Given the description of an element on the screen output the (x, y) to click on. 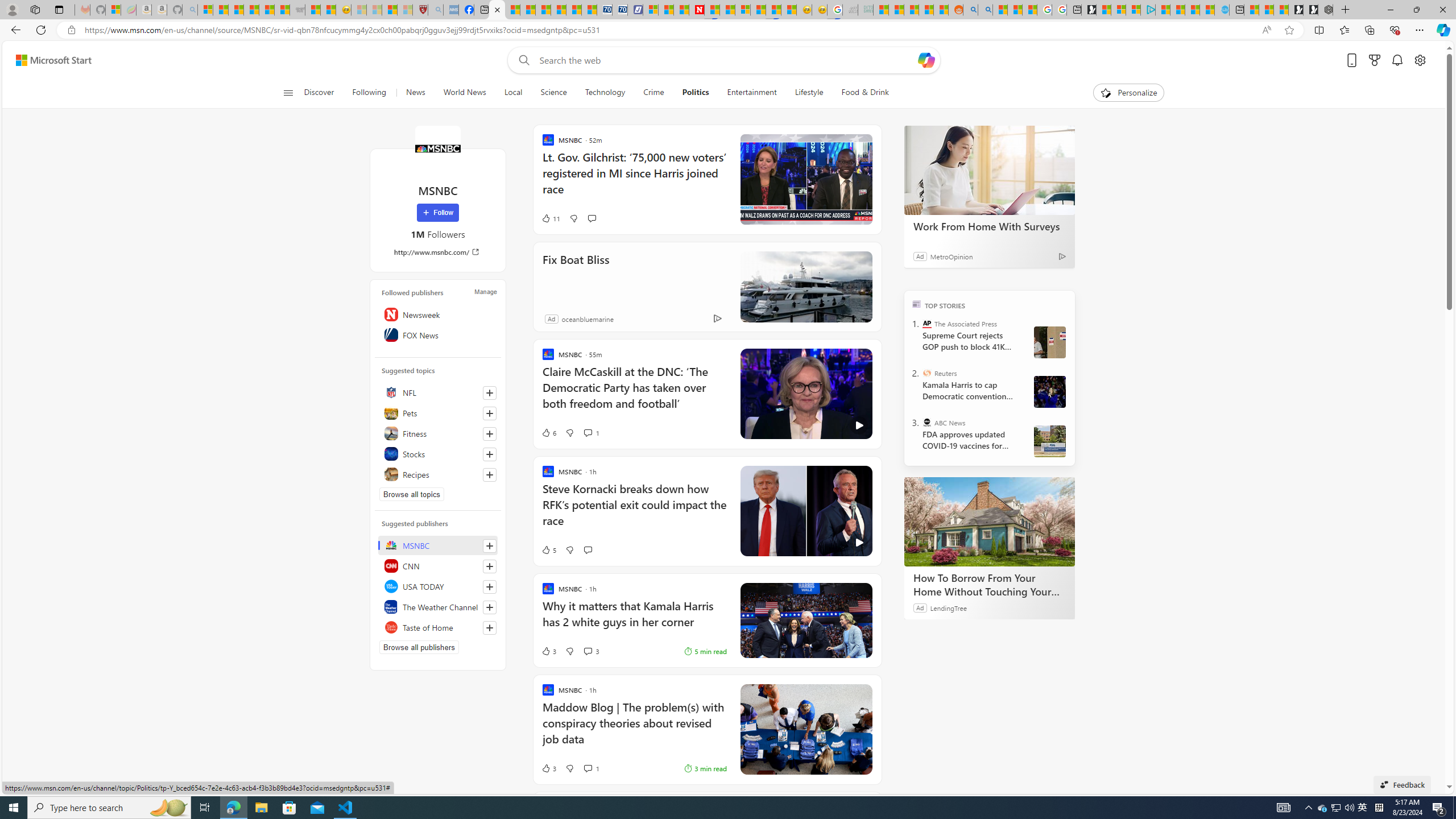
11 Like (549, 218)
View comments 3 Comment (591, 650)
Nordace - Nordace Siena Is Not An Ordinary Backpack (1325, 9)
Following (370, 92)
Open Copilot (925, 59)
Skip to footer (46, 59)
Trusted Community Engagement and Contributions | Guidelines (711, 9)
NFL (437, 392)
Ad (551, 318)
